Given the description of an element on the screen output the (x, y) to click on. 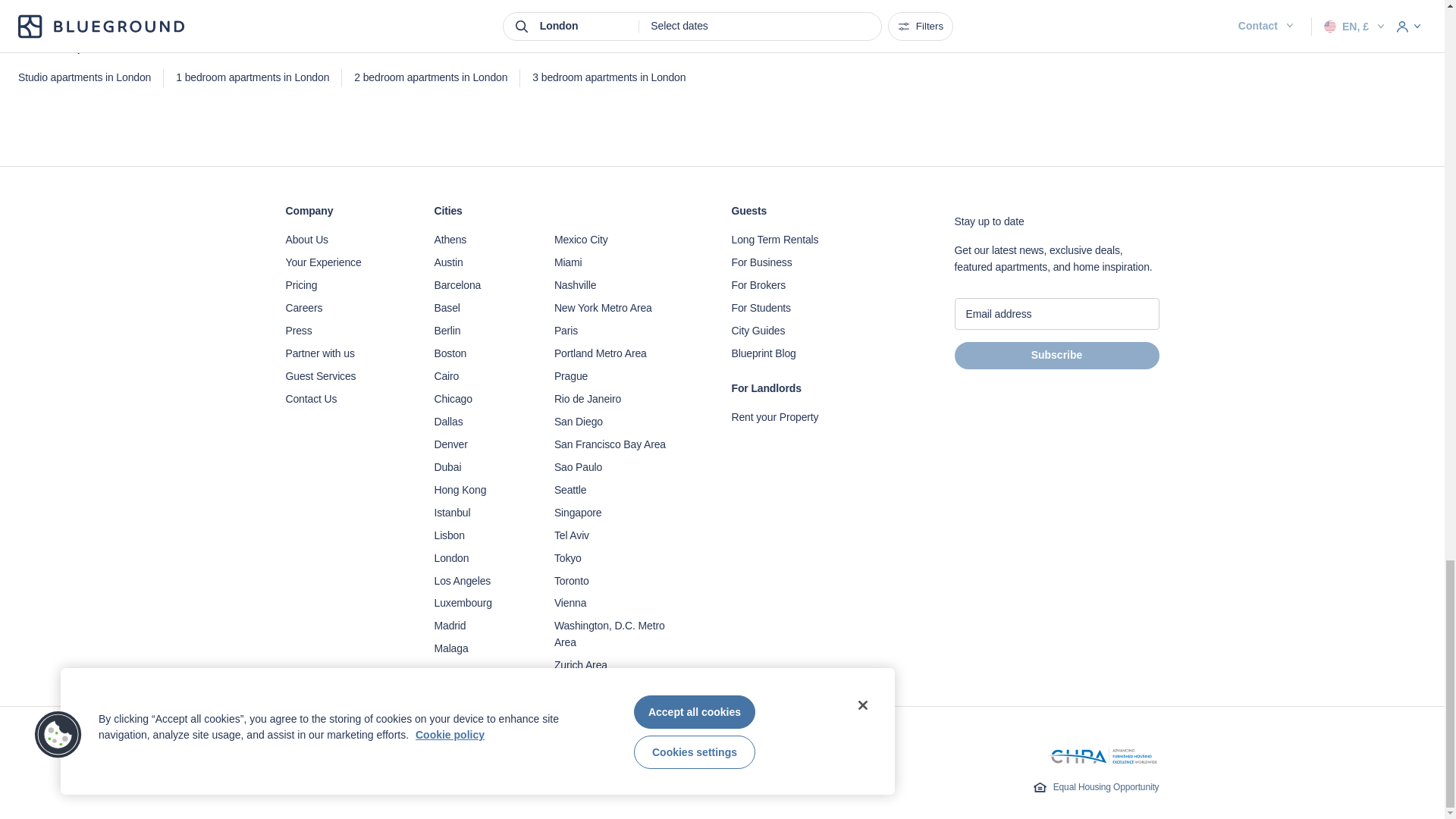
Apartment Pricing Policy (344, 285)
Experience Modern Living (344, 262)
Careers (344, 308)
Our Guest Services (344, 376)
Partner with us (344, 353)
Newsroom (344, 330)
About Us (344, 239)
